Given the description of an element on the screen output the (x, y) to click on. 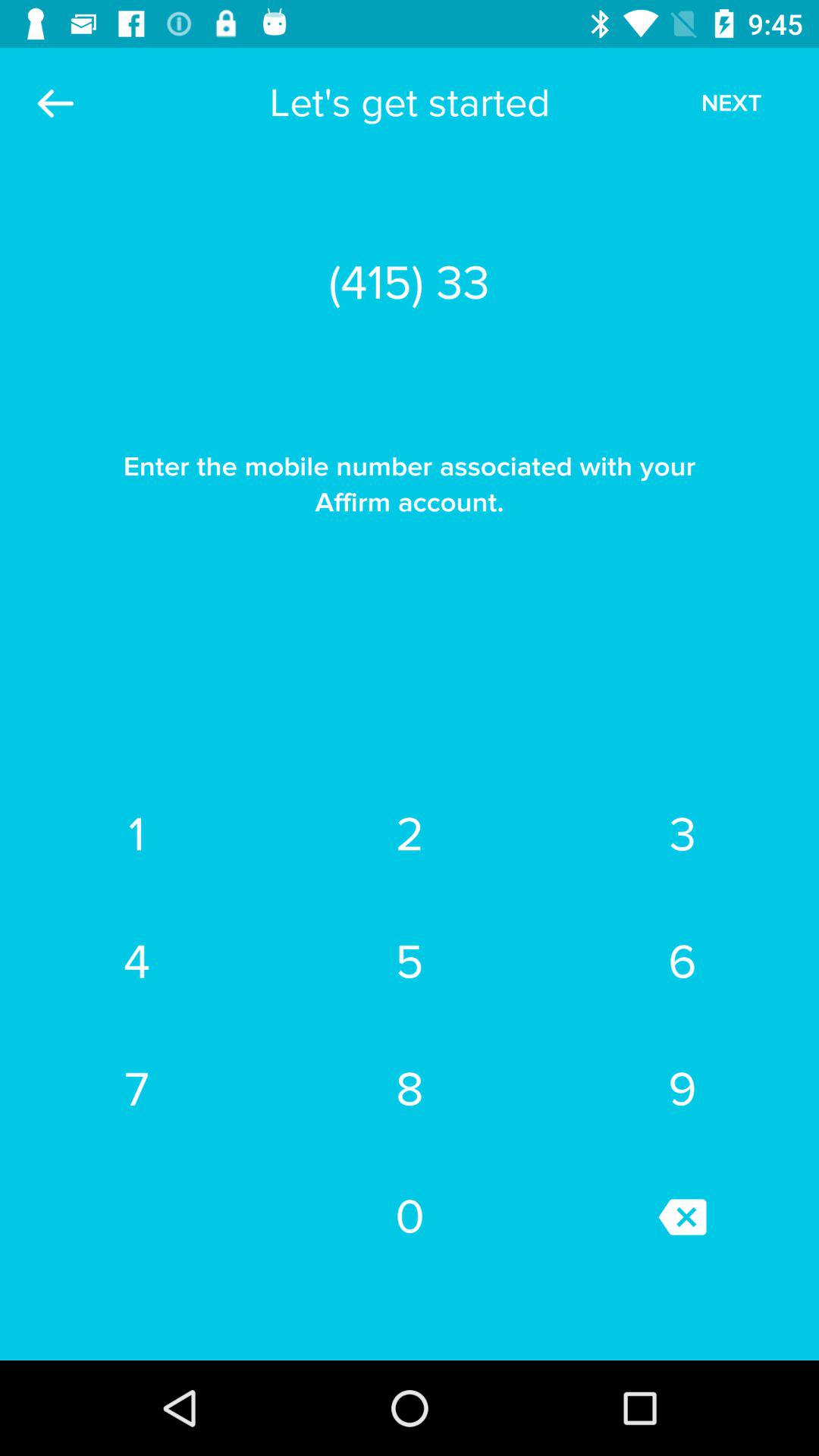
tap 1 icon (136, 834)
